Given the description of an element on the screen output the (x, y) to click on. 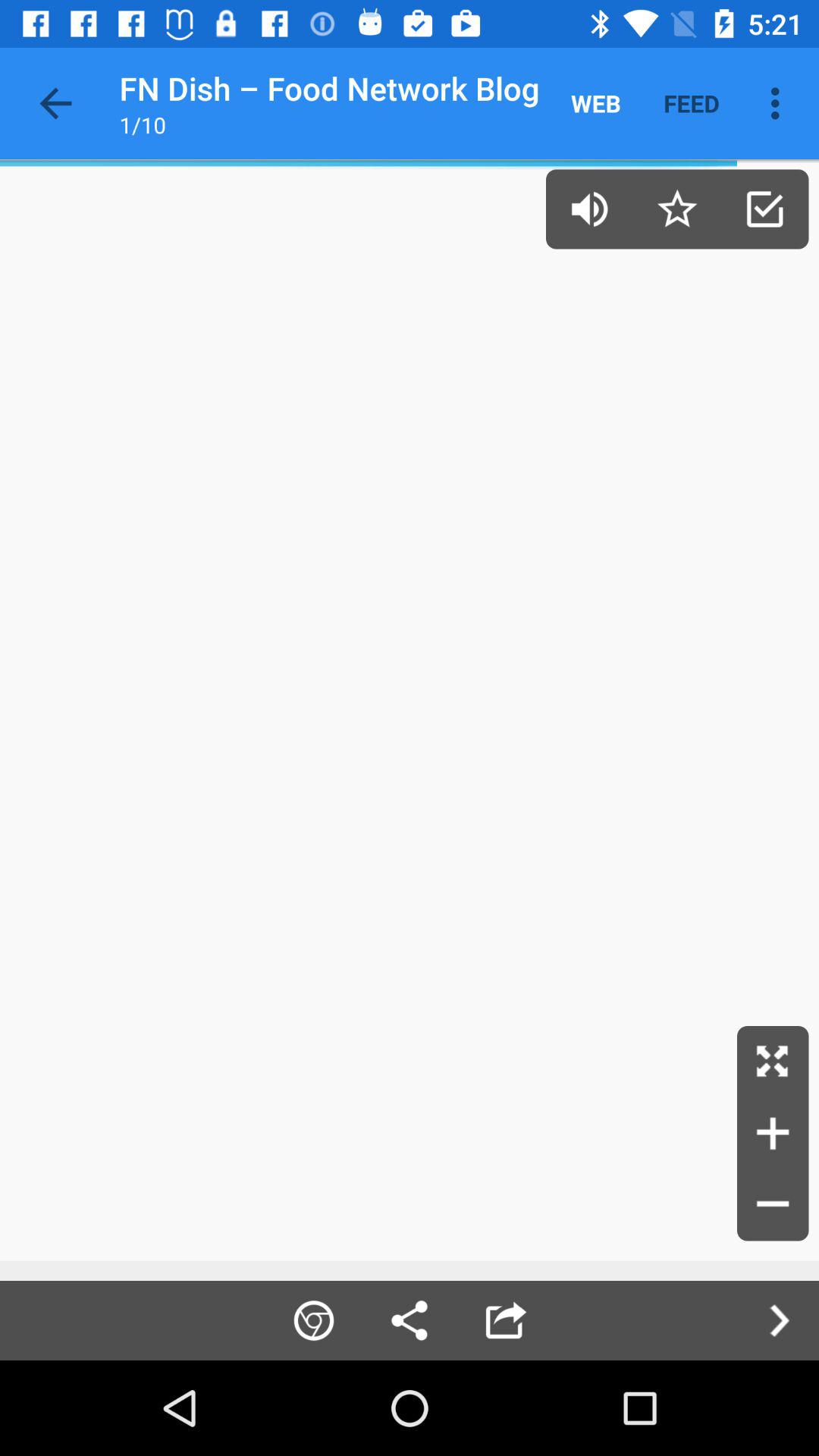
turn on icon to the left of fn dish food app (55, 103)
